Given the description of an element on the screen output the (x, y) to click on. 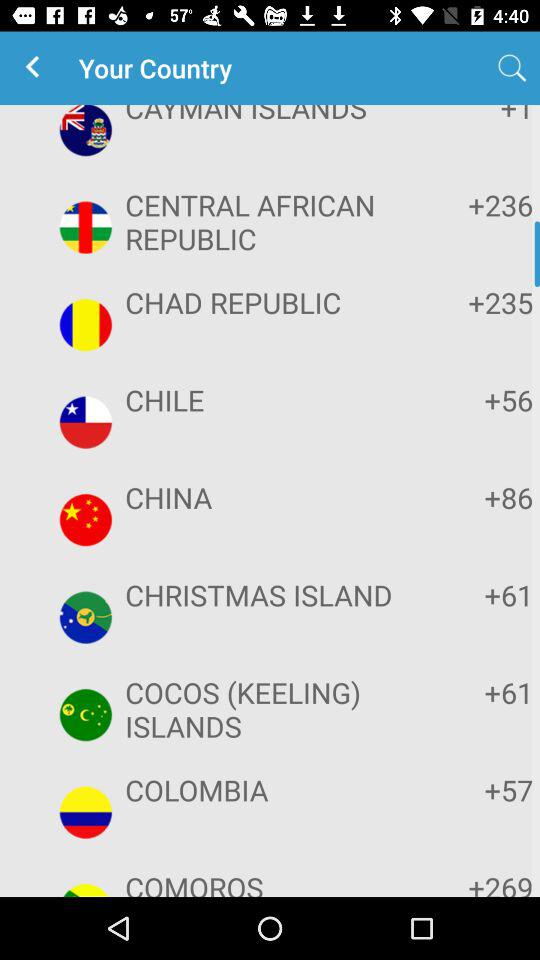
turn off the item below the chile (471, 497)
